Given the description of an element on the screen output the (x, y) to click on. 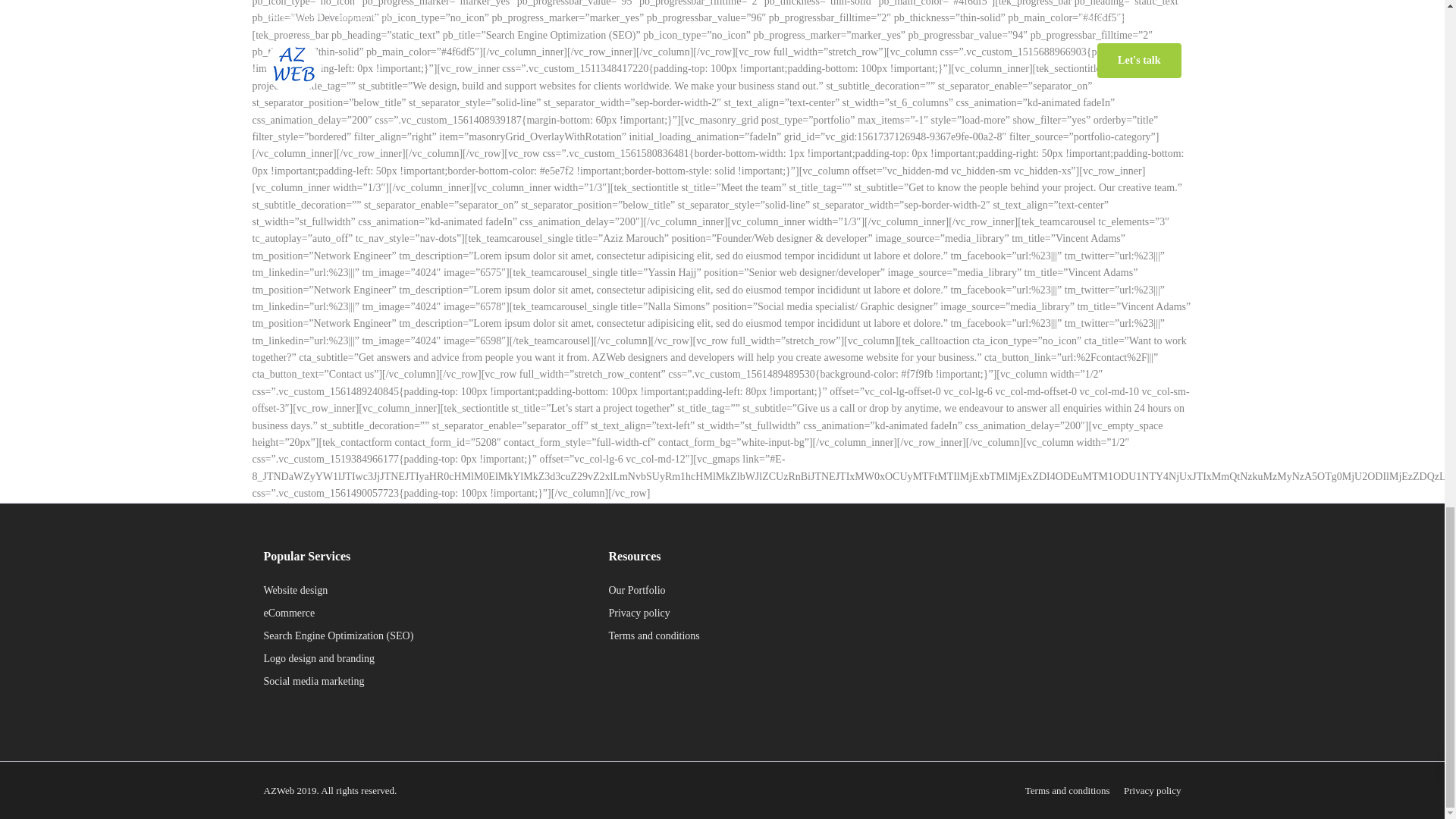
Our Portfolio (636, 590)
Privacy policy (1152, 790)
eCommerce (289, 613)
Social media marketing (314, 681)
Website design (296, 590)
Logo design and branding (319, 658)
Privacy policy (638, 613)
Terms and conditions (653, 635)
Terms and conditions (1067, 790)
